Given the description of an element on the screen output the (x, y) to click on. 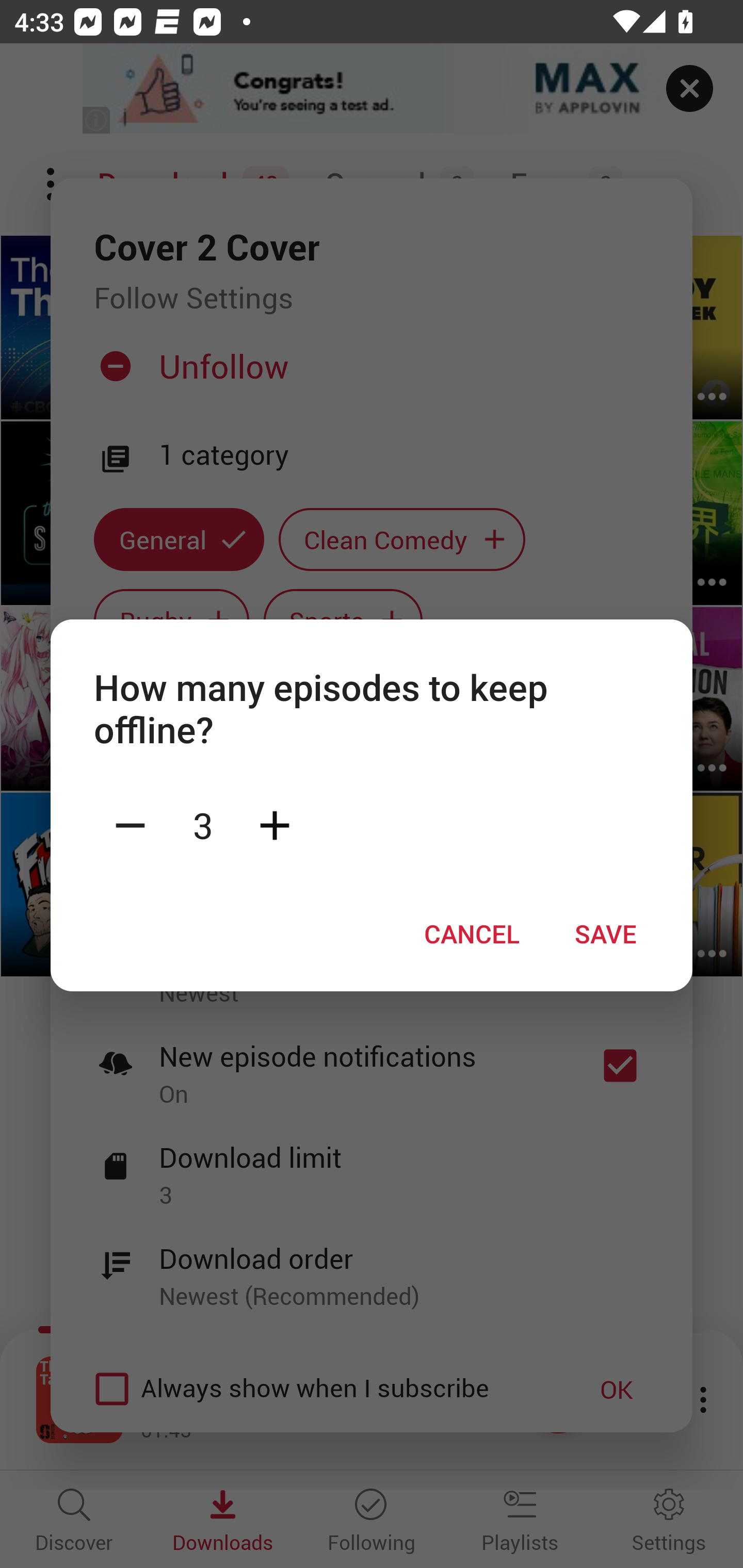
Minus (129, 824)
Plus (274, 824)
CANCEL (470, 933)
SAVE (605, 933)
